Given the description of an element on the screen output the (x, y) to click on. 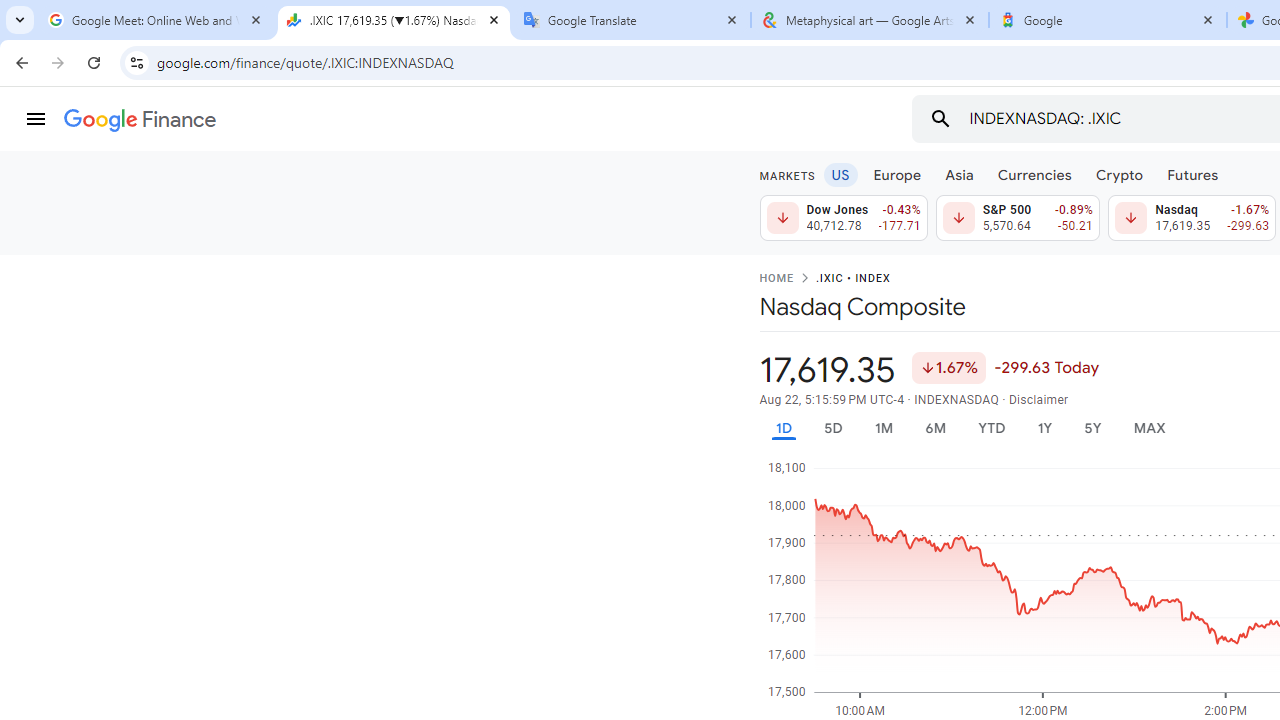
1M (882, 427)
5Y (1092, 427)
Finance (140, 120)
Google Translate (632, 20)
S&P 500 5,570.64 Down by 0.89% -50.21 (1017, 218)
